Given the description of an element on the screen output the (x, y) to click on. 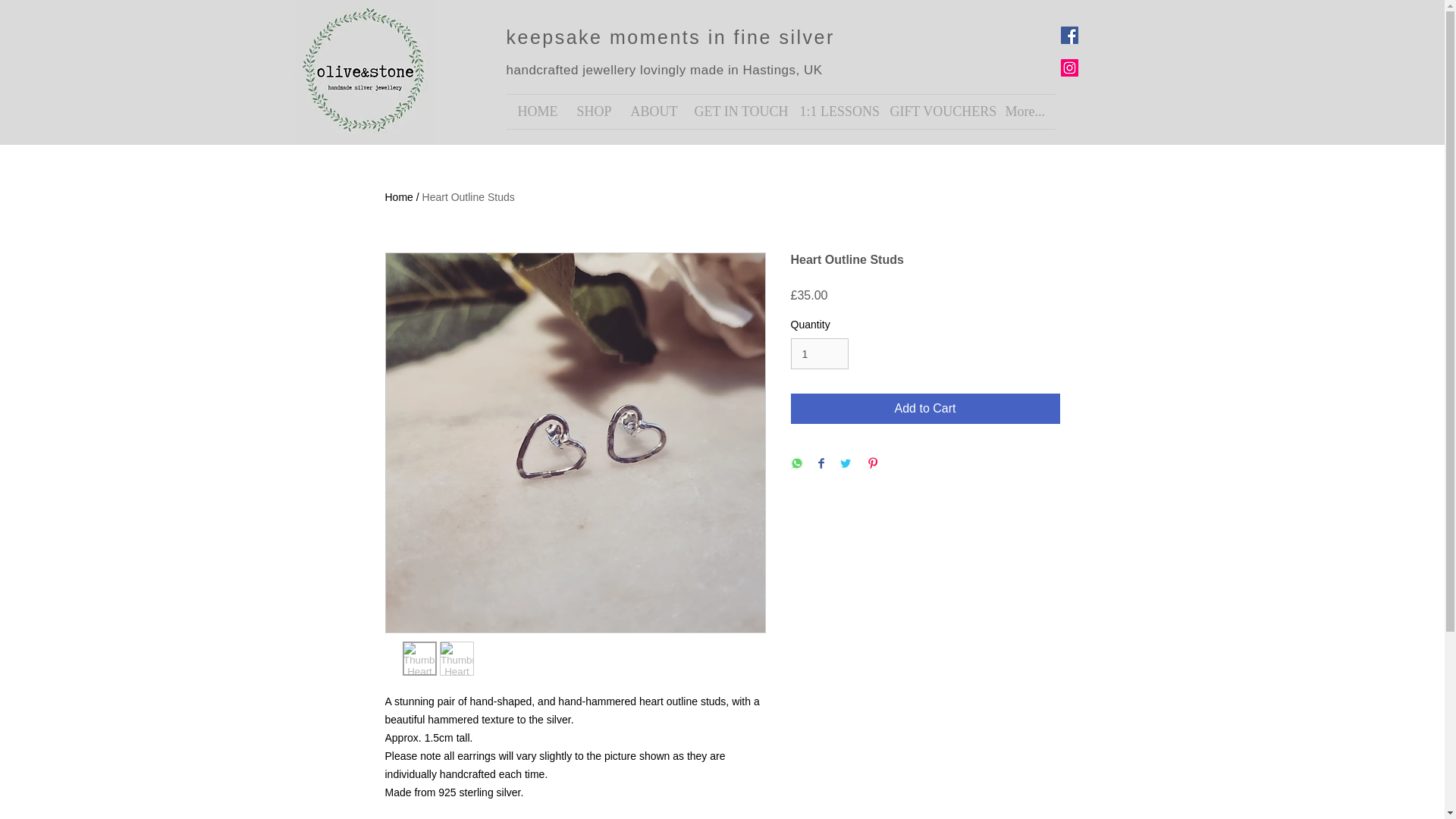
Add to Cart (924, 408)
1 (818, 353)
Heart Outline Studs (468, 196)
1:1 LESSONS (834, 111)
ABOUT (650, 111)
HOME (536, 111)
SHOP (593, 111)
Home (399, 196)
GET IN TOUCH (734, 111)
GIFT VOUCHERS (934, 111)
